Given the description of an element on the screen output the (x, y) to click on. 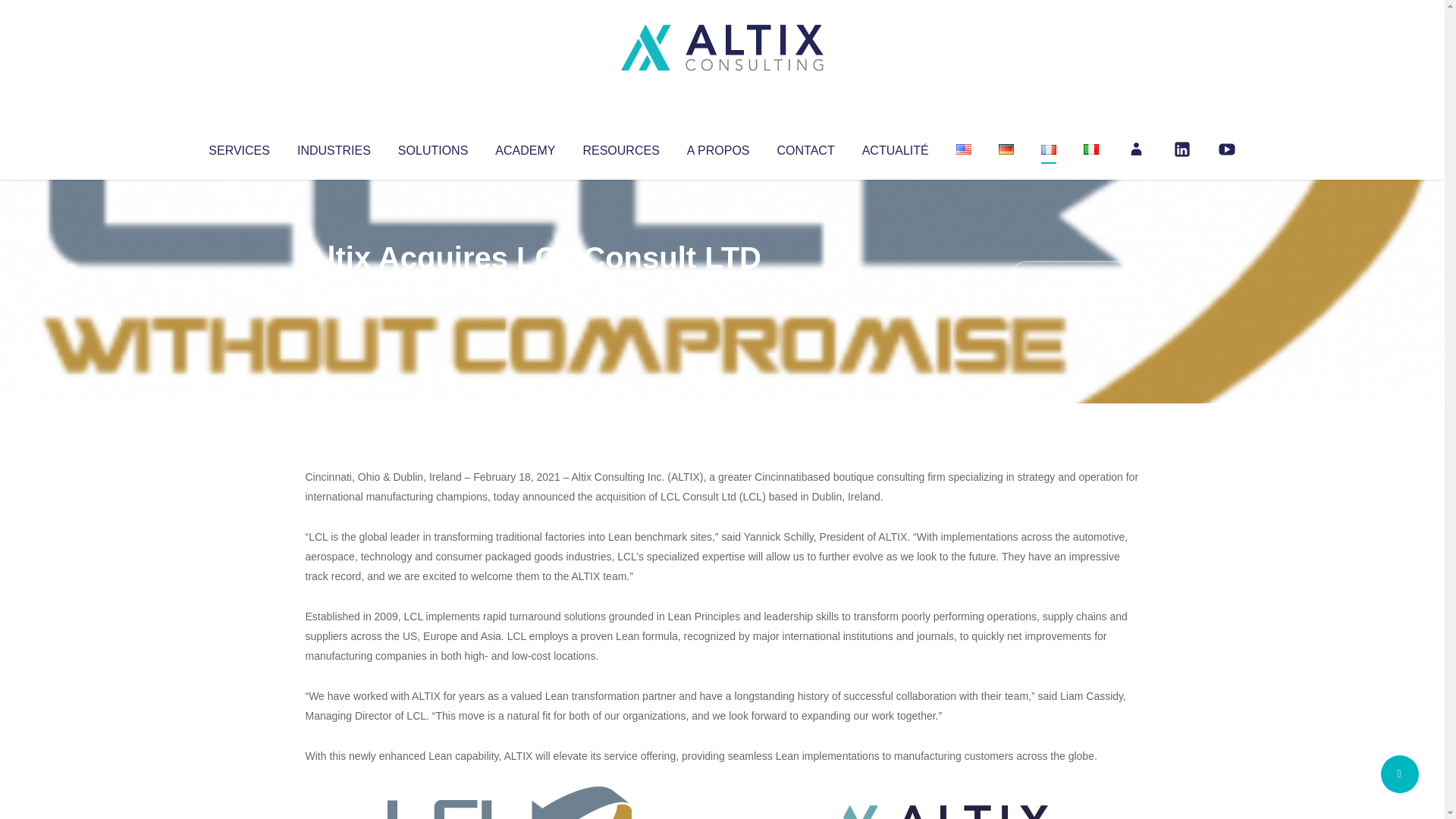
Uncategorized (530, 287)
SOLUTIONS (432, 146)
SERVICES (238, 146)
RESOURCES (620, 146)
ACADEMY (524, 146)
Altix (333, 287)
No Comments (1073, 278)
INDUSTRIES (334, 146)
Articles par Altix (333, 287)
A PROPOS (718, 146)
